Given the description of an element on the screen output the (x, y) to click on. 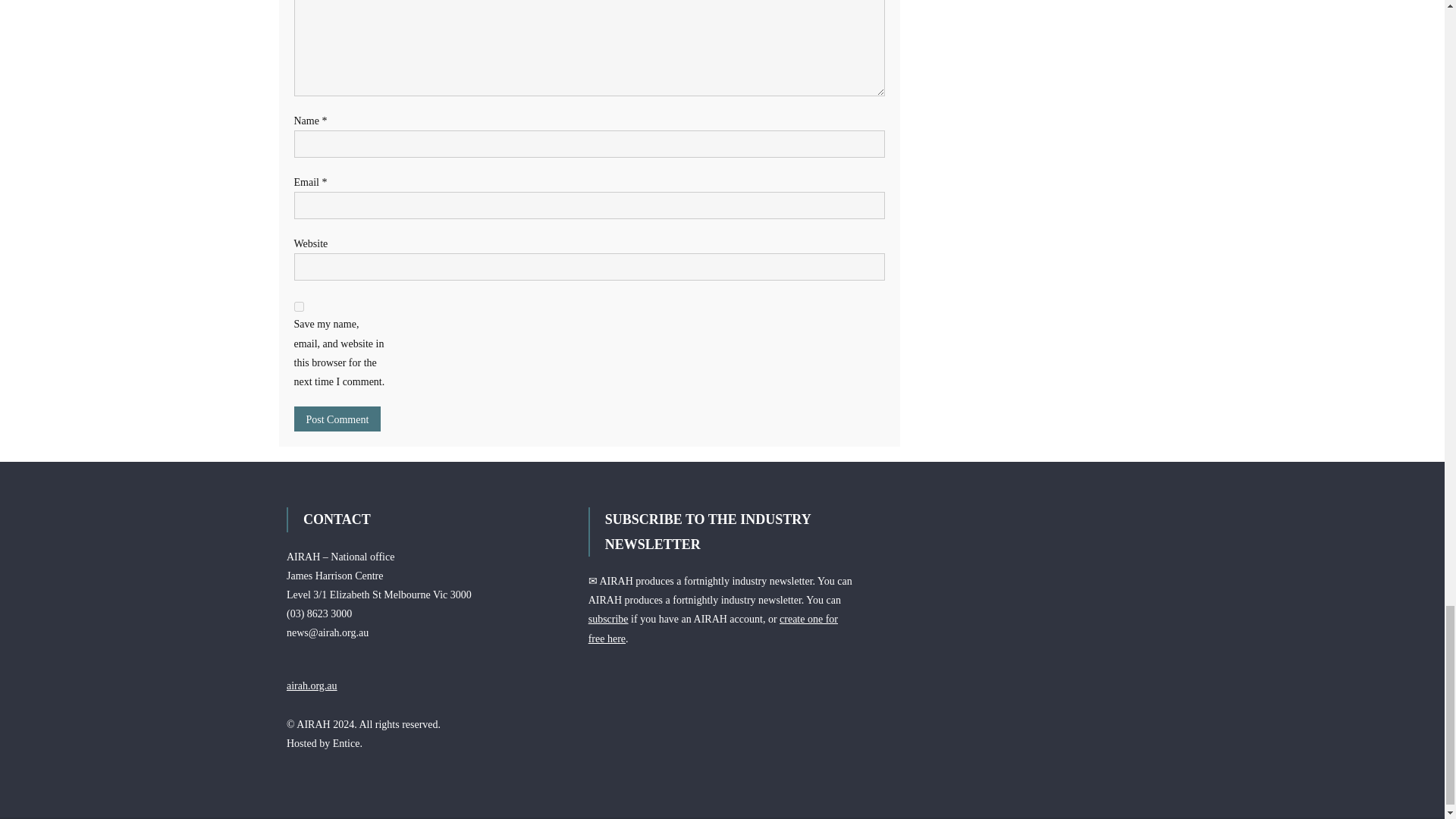
Post Comment (337, 418)
Post Comment (337, 418)
yes (299, 307)
